Given the description of an element on the screen output the (x, y) to click on. 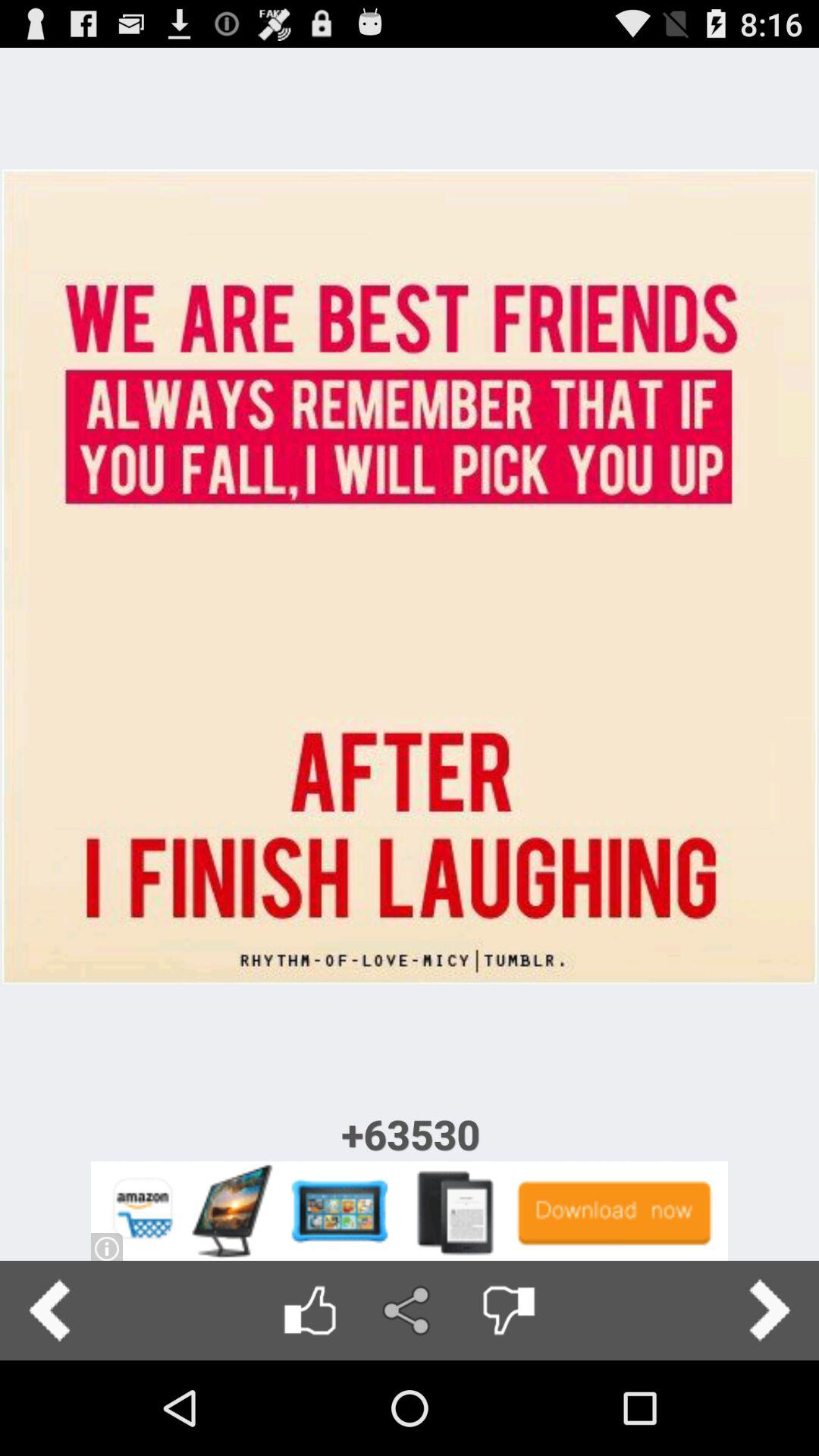
next page (769, 1310)
